Given the description of an element on the screen output the (x, y) to click on. 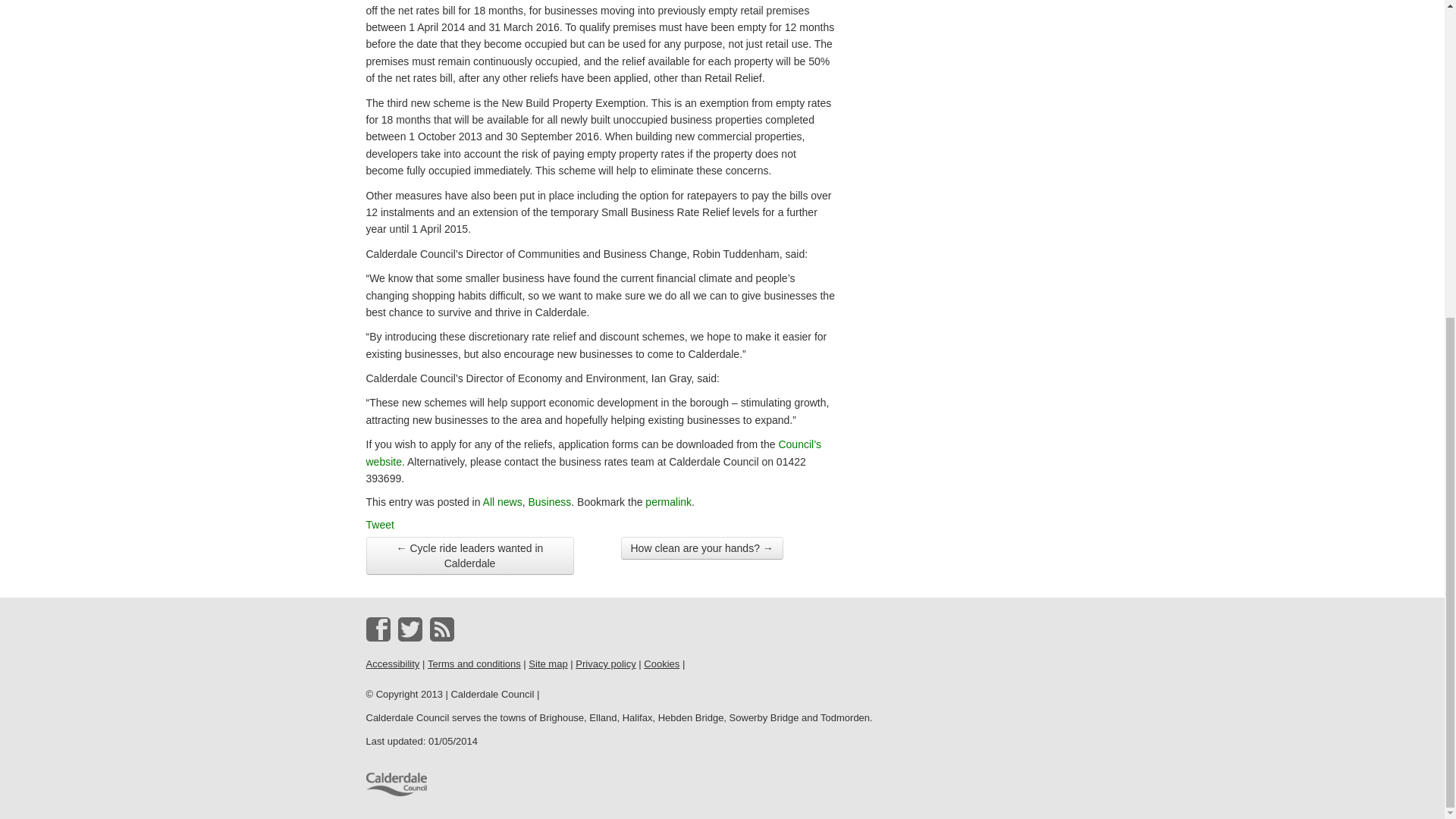
Facebook (377, 629)
Business (548, 501)
RSS (440, 629)
Accessibility (392, 663)
Tweet (379, 524)
permalink (668, 501)
Twitter (409, 629)
Permalink to Helping local businesses (668, 501)
All news (502, 501)
